Given the description of an element on the screen output the (x, y) to click on. 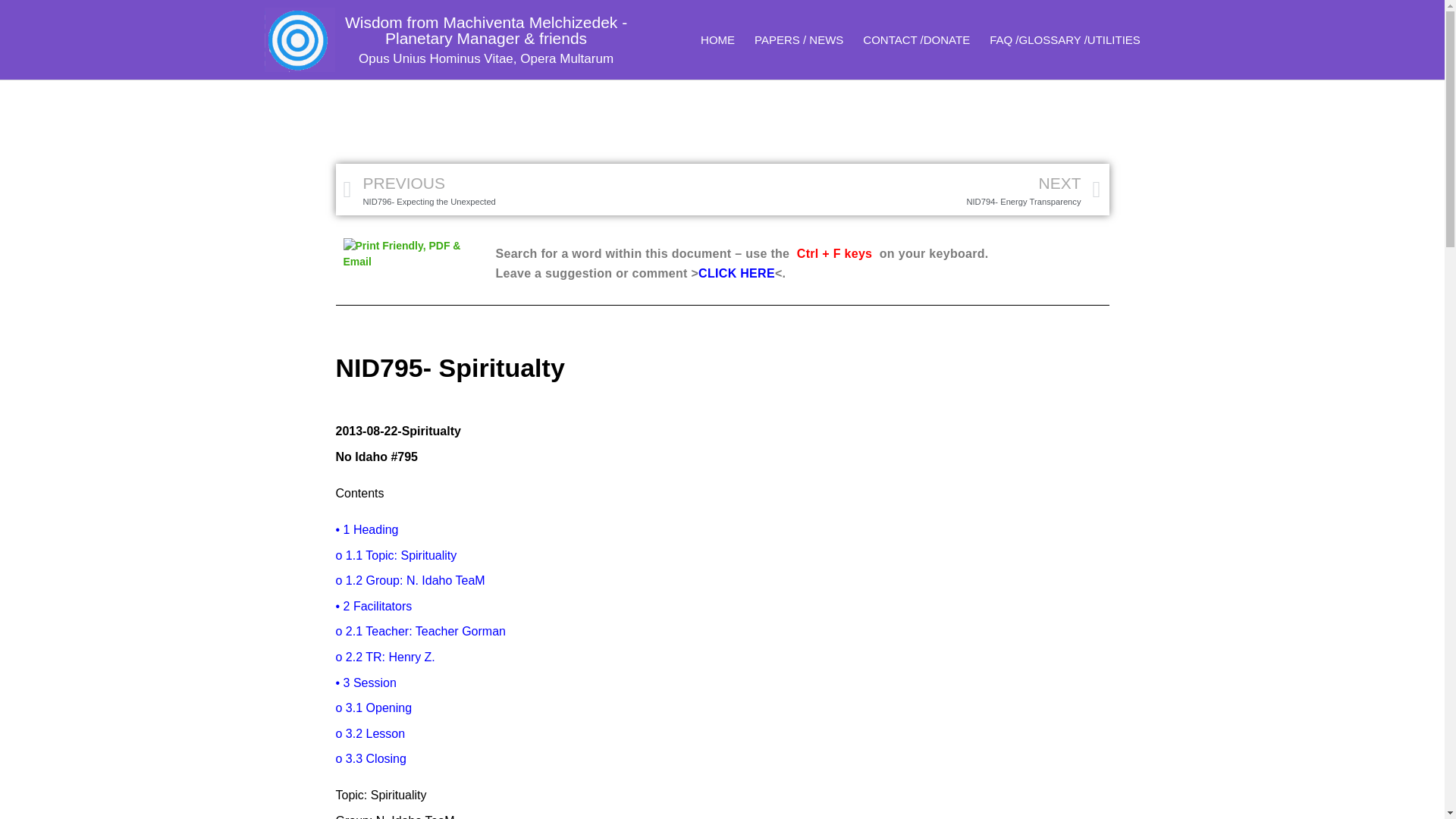
HOME (717, 39)
